Given the description of an element on the screen output the (x, y) to click on. 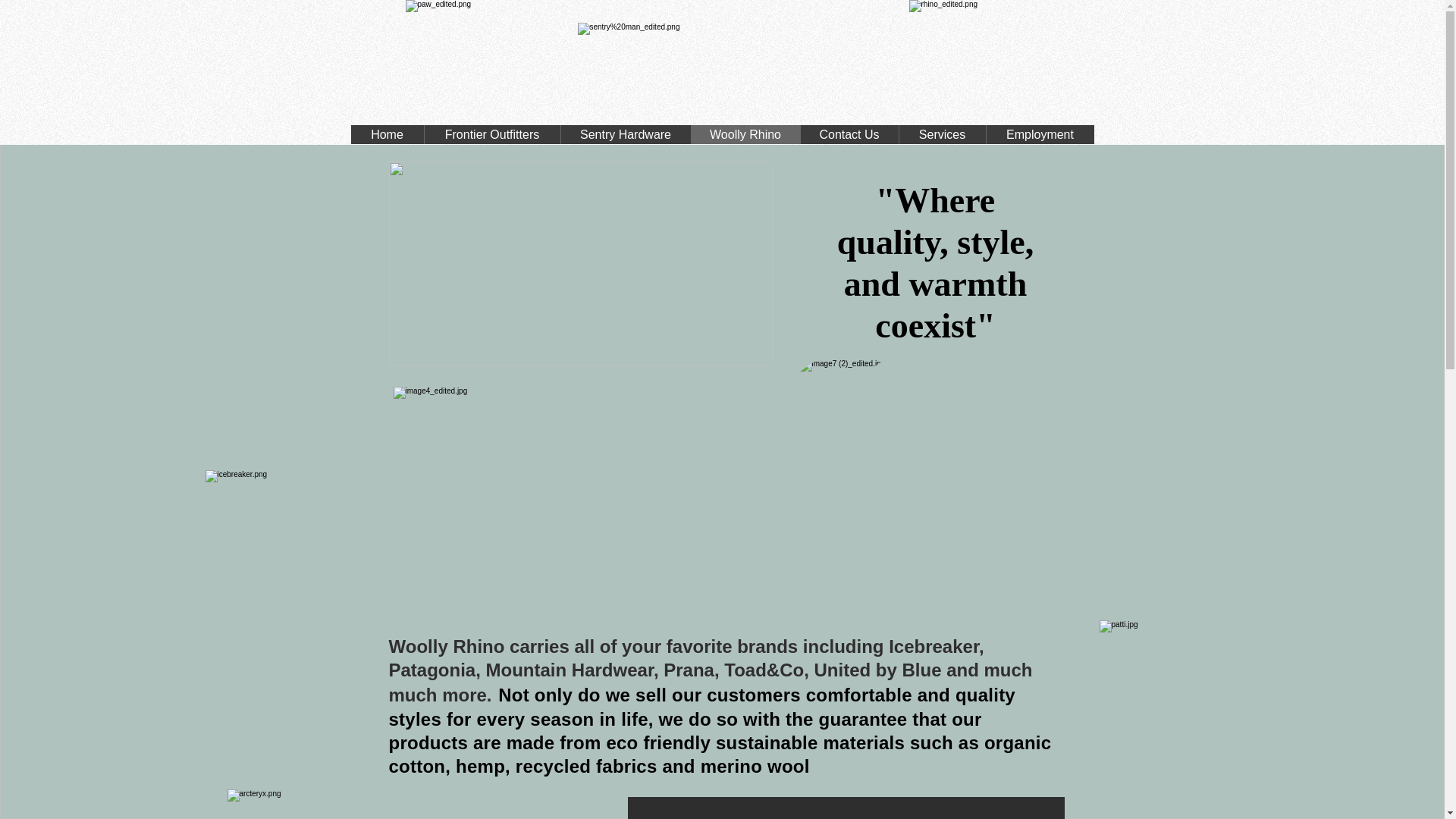
Frontier Outfitters (491, 134)
Employment (1039, 134)
Contact Us (848, 134)
Woolly Rhino (744, 134)
Services (941, 134)
Home (386, 134)
Sentry Hardware (624, 134)
